Given the description of an element on the screen output the (x, y) to click on. 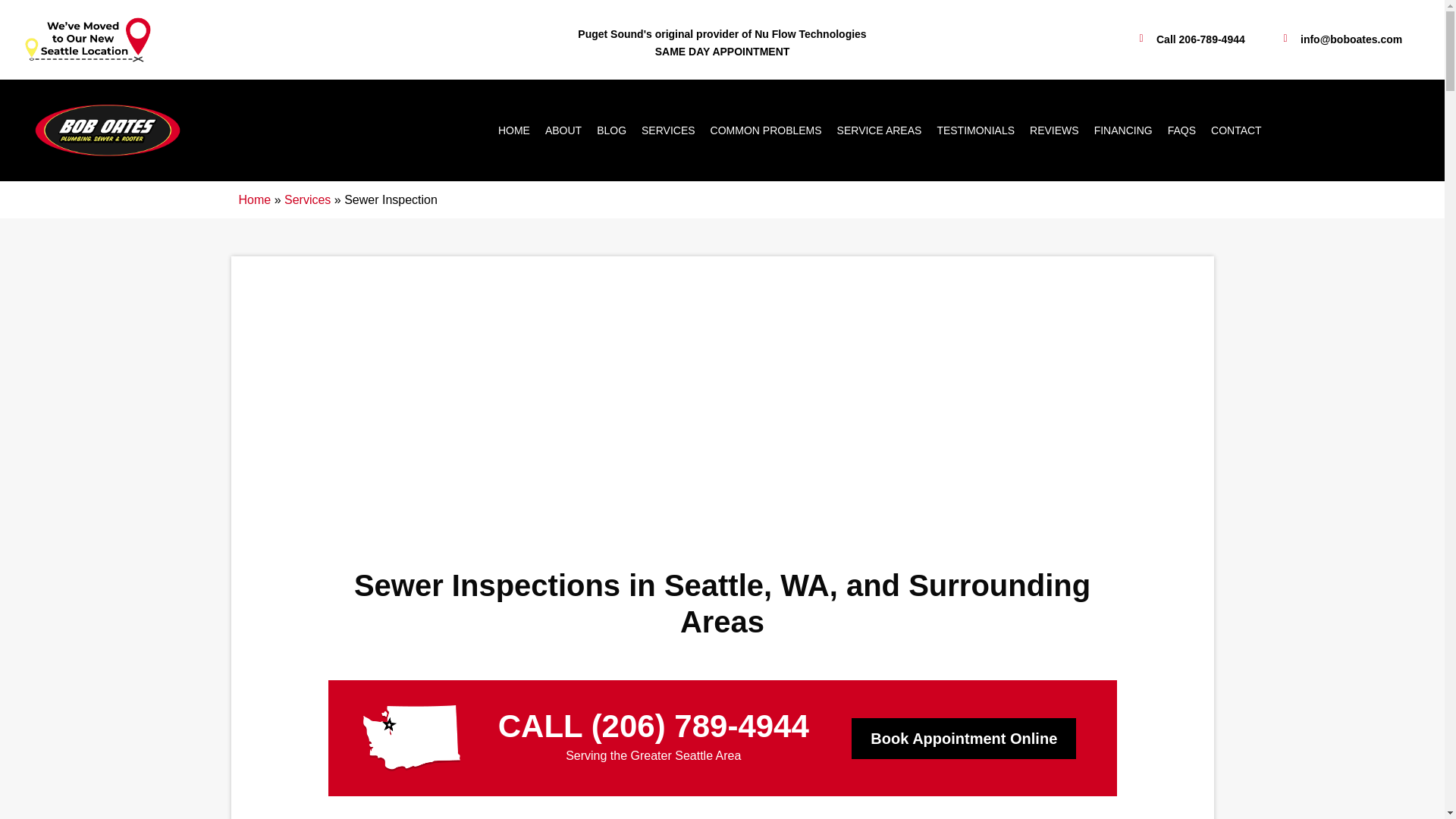
Bob Oates (107, 130)
HOME (513, 130)
BLOG (611, 130)
Call 206-789-4944 (1189, 39)
COMMON PROBLEMS (766, 130)
ABOUT (563, 130)
bob-oates-seattle-wa-white (411, 738)
Puget Sound's original provider of Nu Flow Technologies (722, 33)
we-move-img (87, 39)
SERVICE AREAS (879, 130)
SERVICES (668, 130)
